Given the description of an element on the screen output the (x, y) to click on. 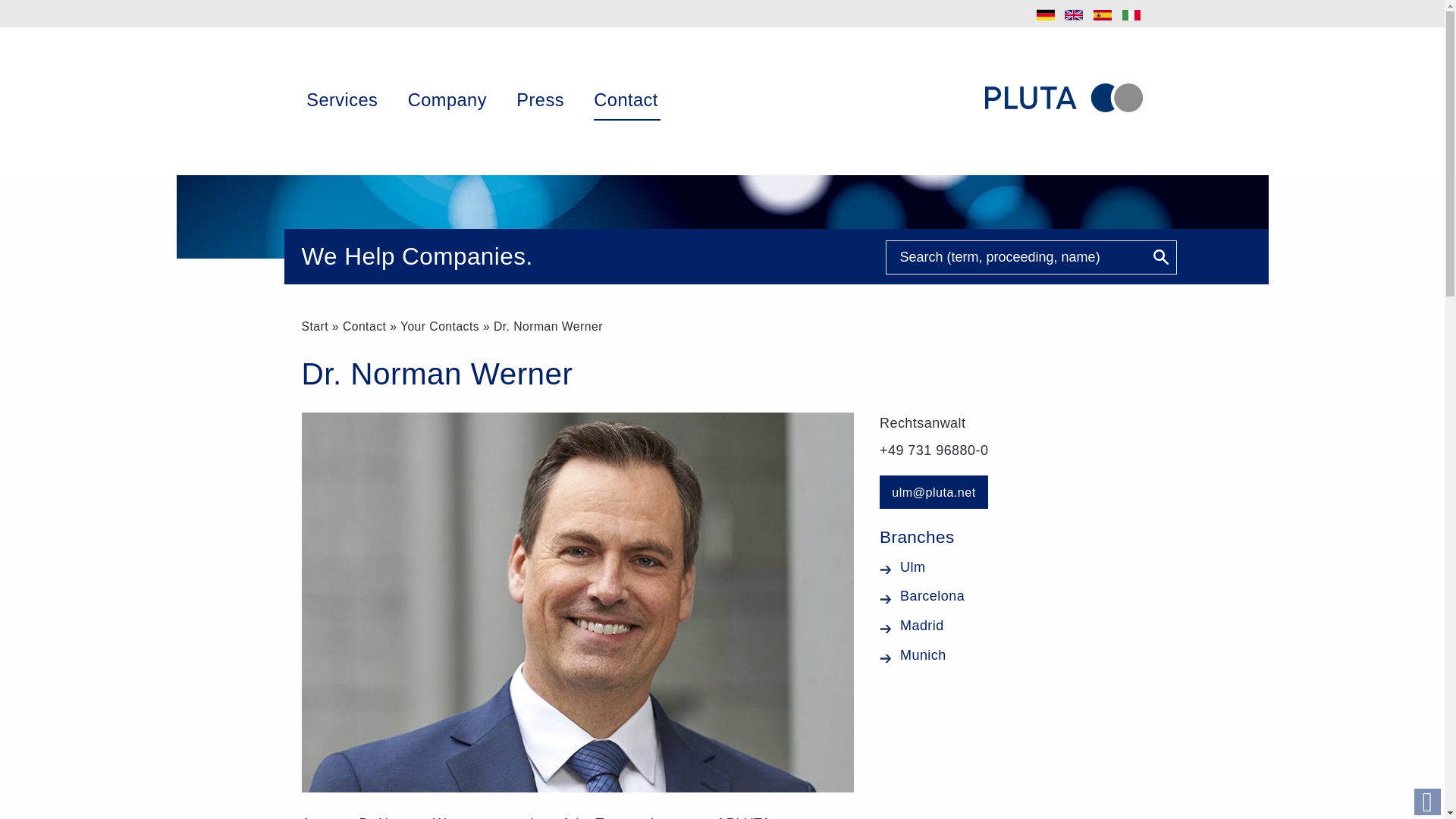
DE (1045, 15)
EN (1073, 15)
IT (1130, 15)
ES (1102, 15)
